Given the description of an element on the screen output the (x, y) to click on. 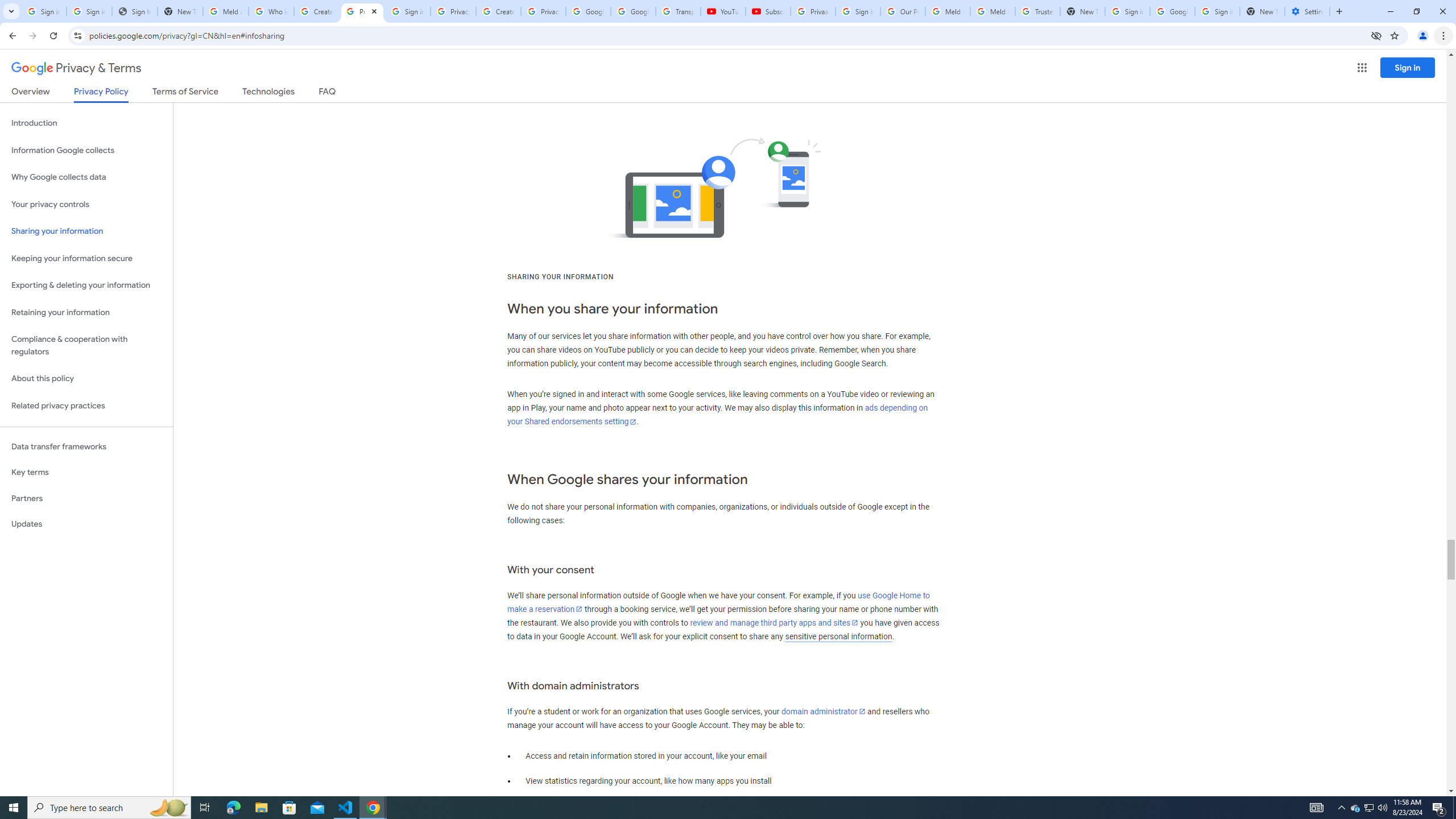
New Tab (1262, 11)
review and manage third party apps and sites (774, 622)
Sign in - Google Accounts (1126, 11)
Related privacy practices (86, 405)
domain administrator (823, 710)
Sign in - Google Accounts (43, 11)
YouTube (723, 11)
